Given the description of an element on the screen output the (x, y) to click on. 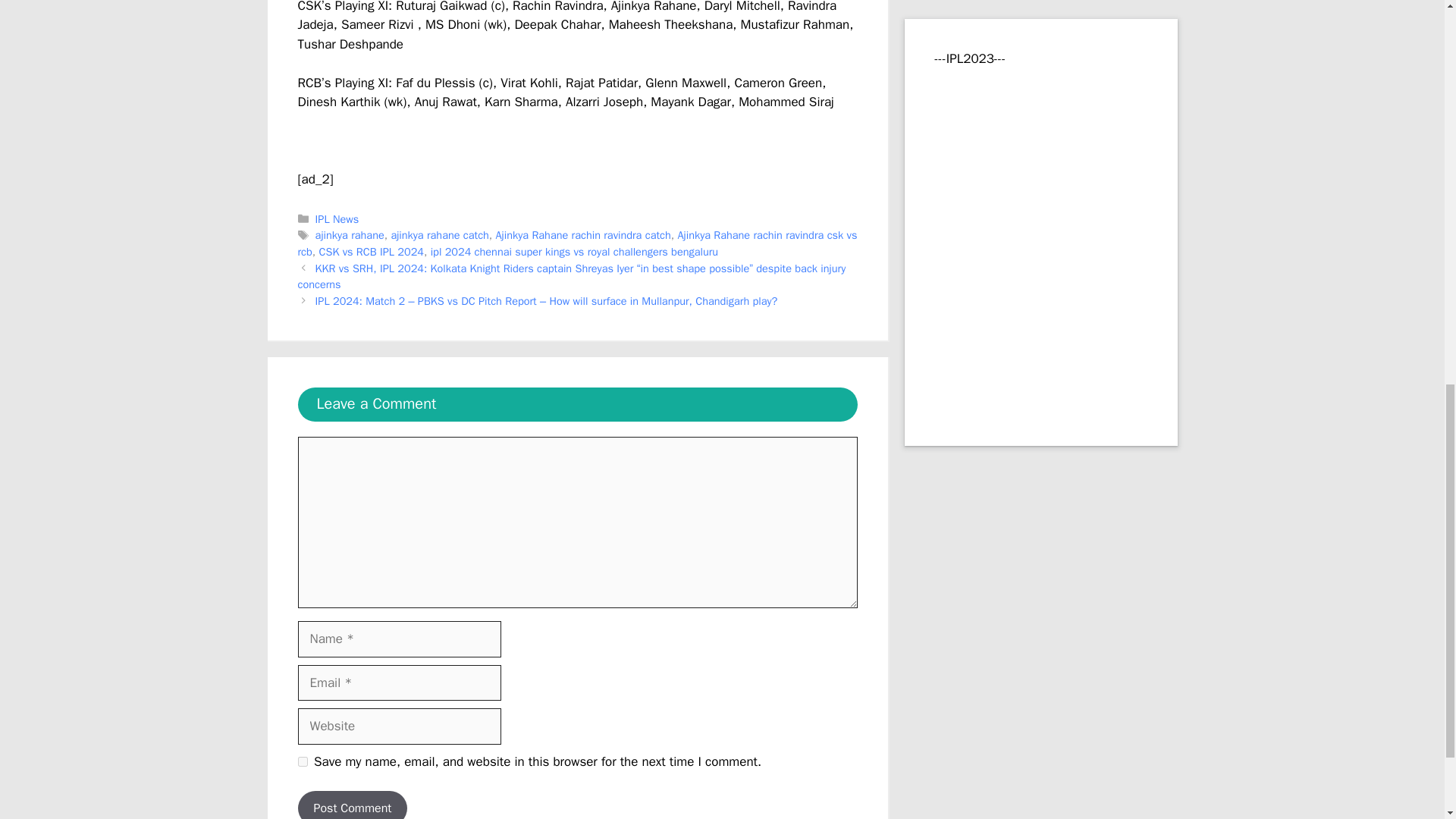
CSK vs RCB IPL 2024 (370, 251)
Post Comment (352, 805)
IPL News (337, 219)
ajinkya rahane catch (438, 234)
Ajinkya Rahane rachin ravindra catch (583, 234)
yes (302, 761)
Ajinkya Rahane rachin ravindra csk vs rcb (577, 243)
ajinkya rahane (349, 234)
ipl 2024 chennai super kings vs royal challengers bengaluru (573, 251)
Post Comment (352, 805)
